Given the description of an element on the screen output the (x, y) to click on. 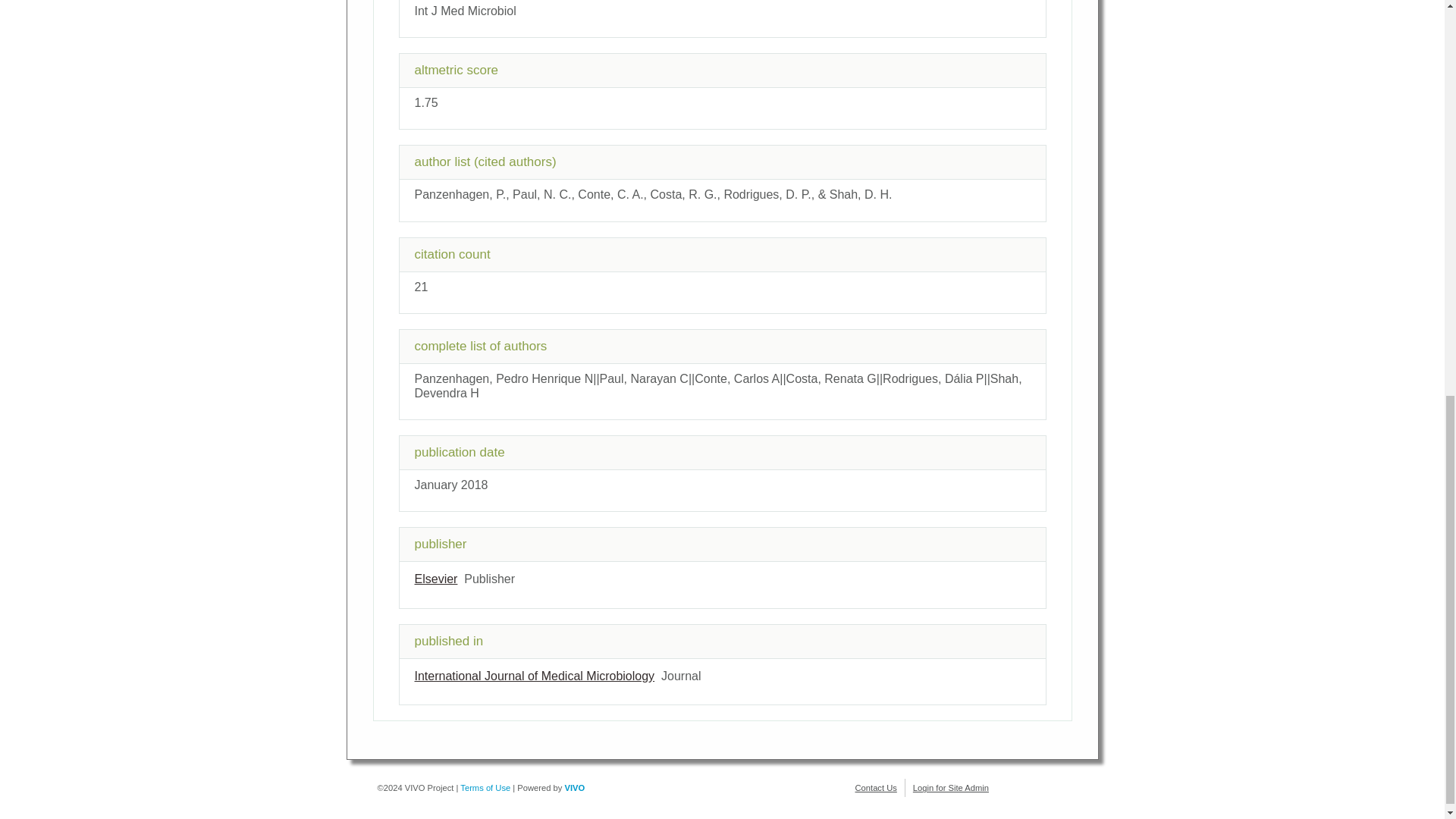
name (435, 578)
Login for Site Admin (950, 787)
Elsevier (435, 578)
Terms of Use (485, 787)
VIVO (574, 787)
Contact Us (876, 787)
International Journal of Medical Microbiology (533, 675)
